Given the description of an element on the screen output the (x, y) to click on. 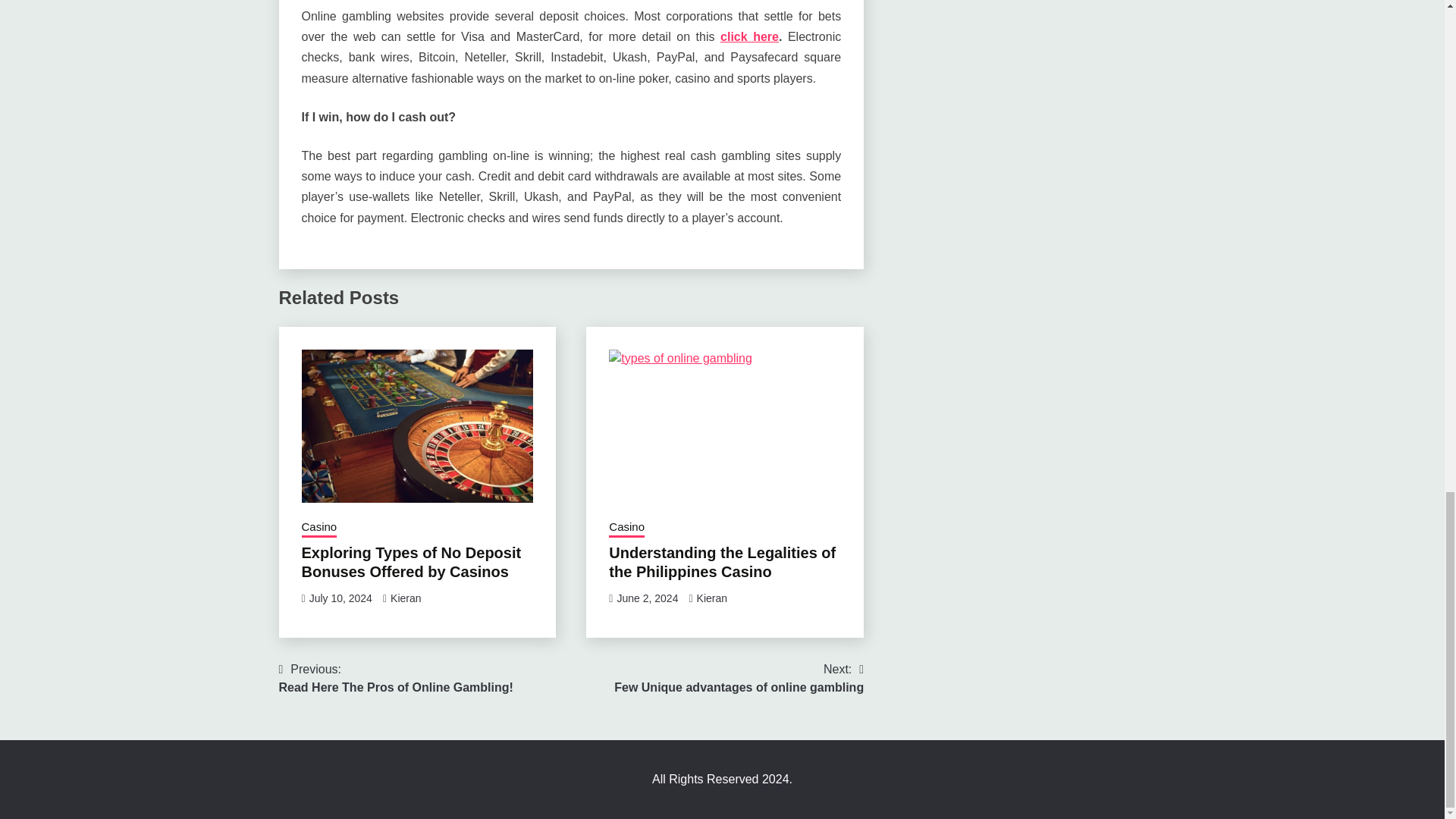
Exploring Types of No Deposit Bonuses Offered by Casinos (738, 678)
click here (396, 678)
Understanding the Legalities of the Philippines Casino (411, 561)
Kieran (749, 36)
Casino (721, 561)
June 2, 2024 (711, 598)
Kieran (626, 528)
July 10, 2024 (646, 598)
